Given the description of an element on the screen output the (x, y) to click on. 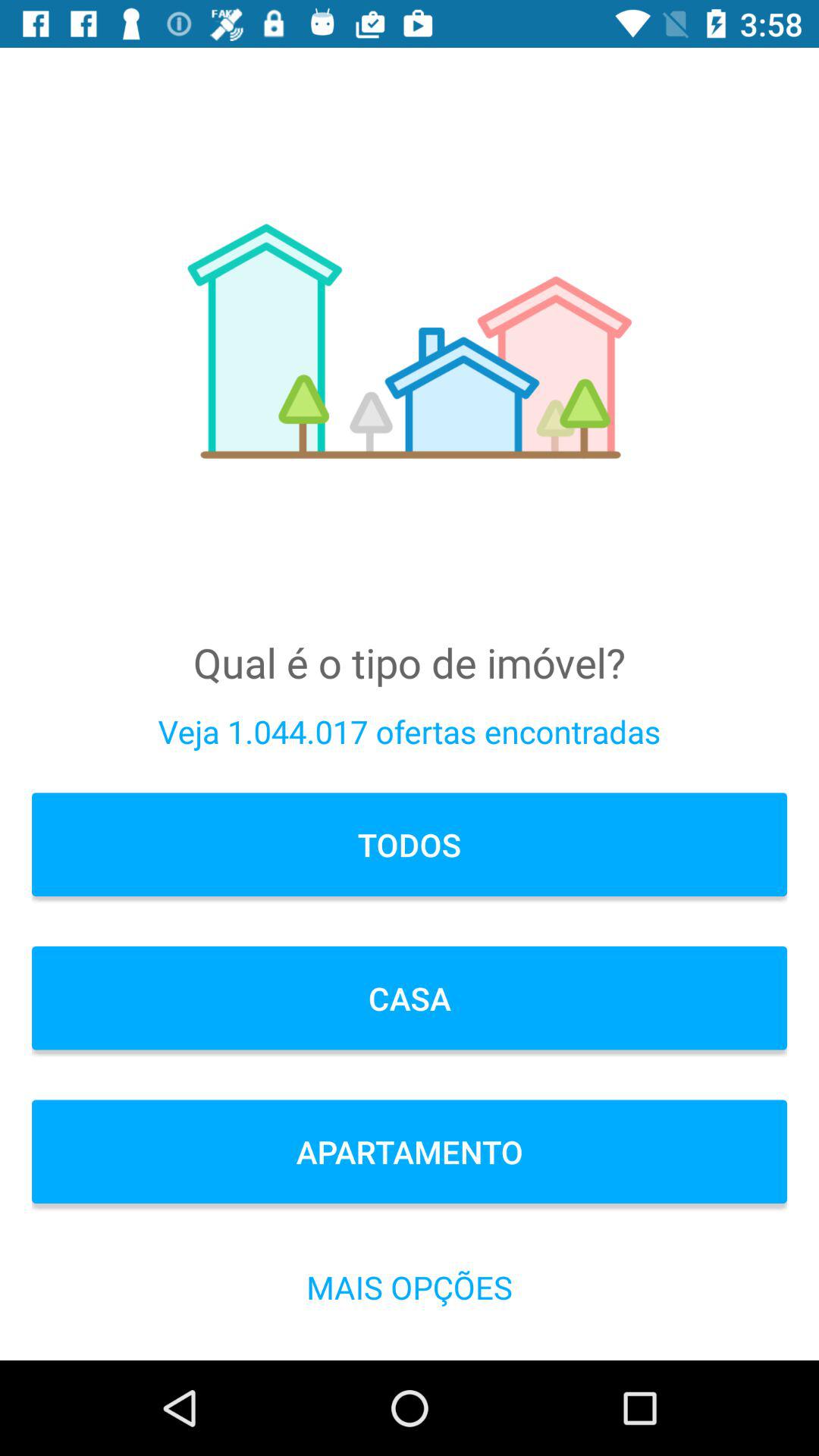
jump until the todos (409, 844)
